Given the description of an element on the screen output the (x, y) to click on. 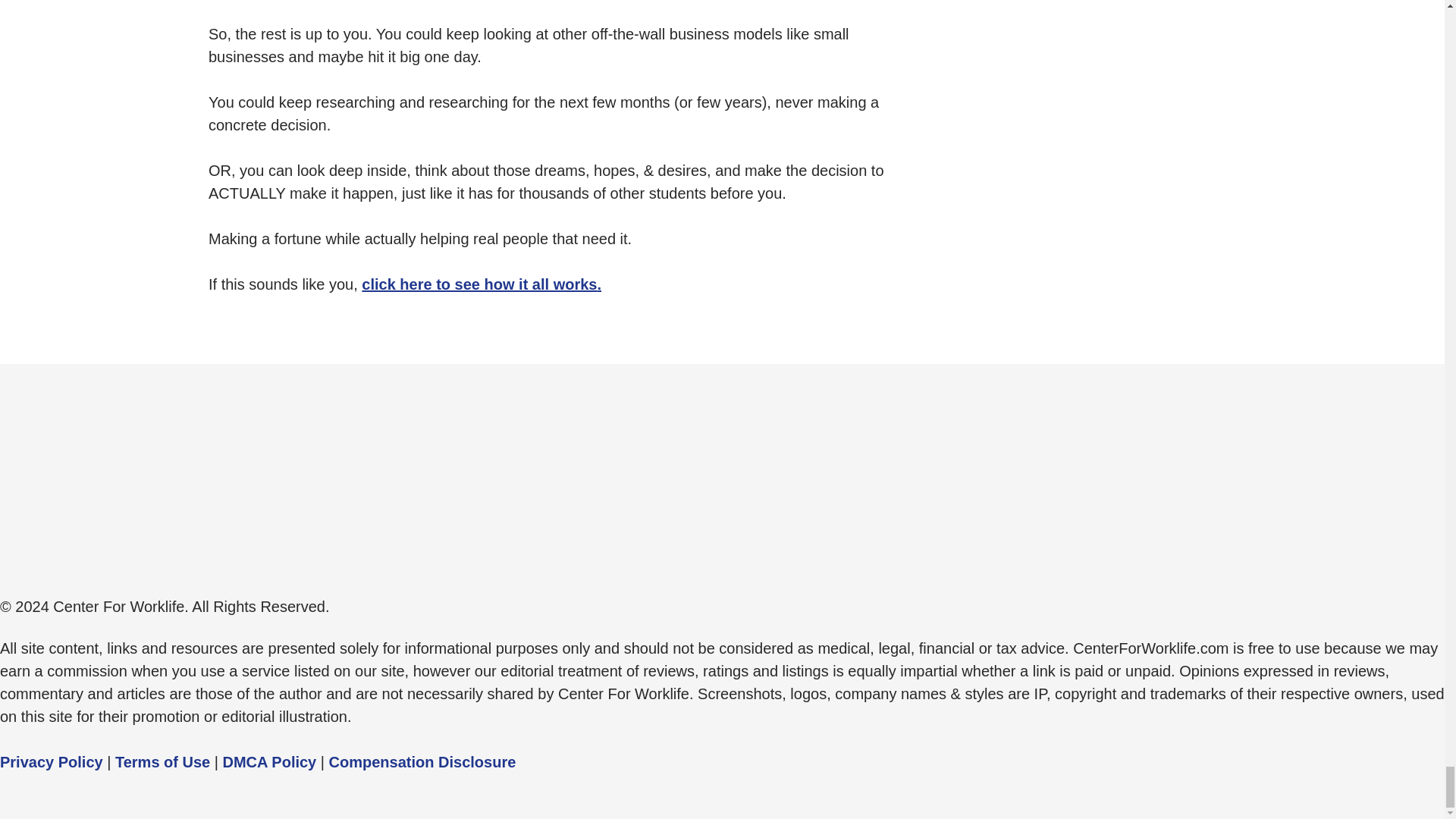
Terms of Use (162, 761)
click here to see how it all works. (481, 284)
Privacy Policy (51, 761)
Compensation Disclosure (422, 761)
DMCA Policy (269, 761)
